Given the description of an element on the screen output the (x, y) to click on. 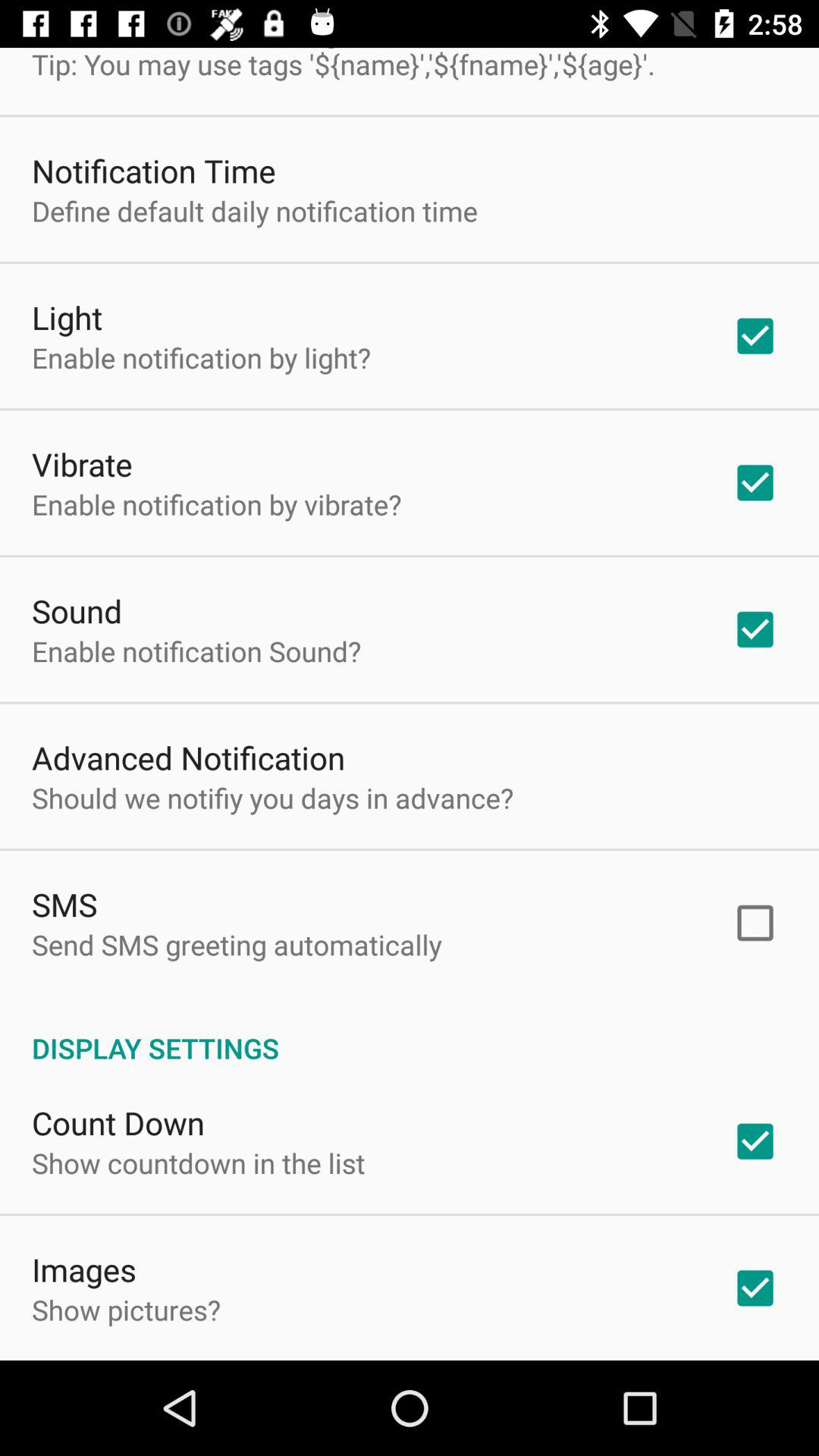
scroll until the count down app (117, 1122)
